Given the description of an element on the screen output the (x, y) to click on. 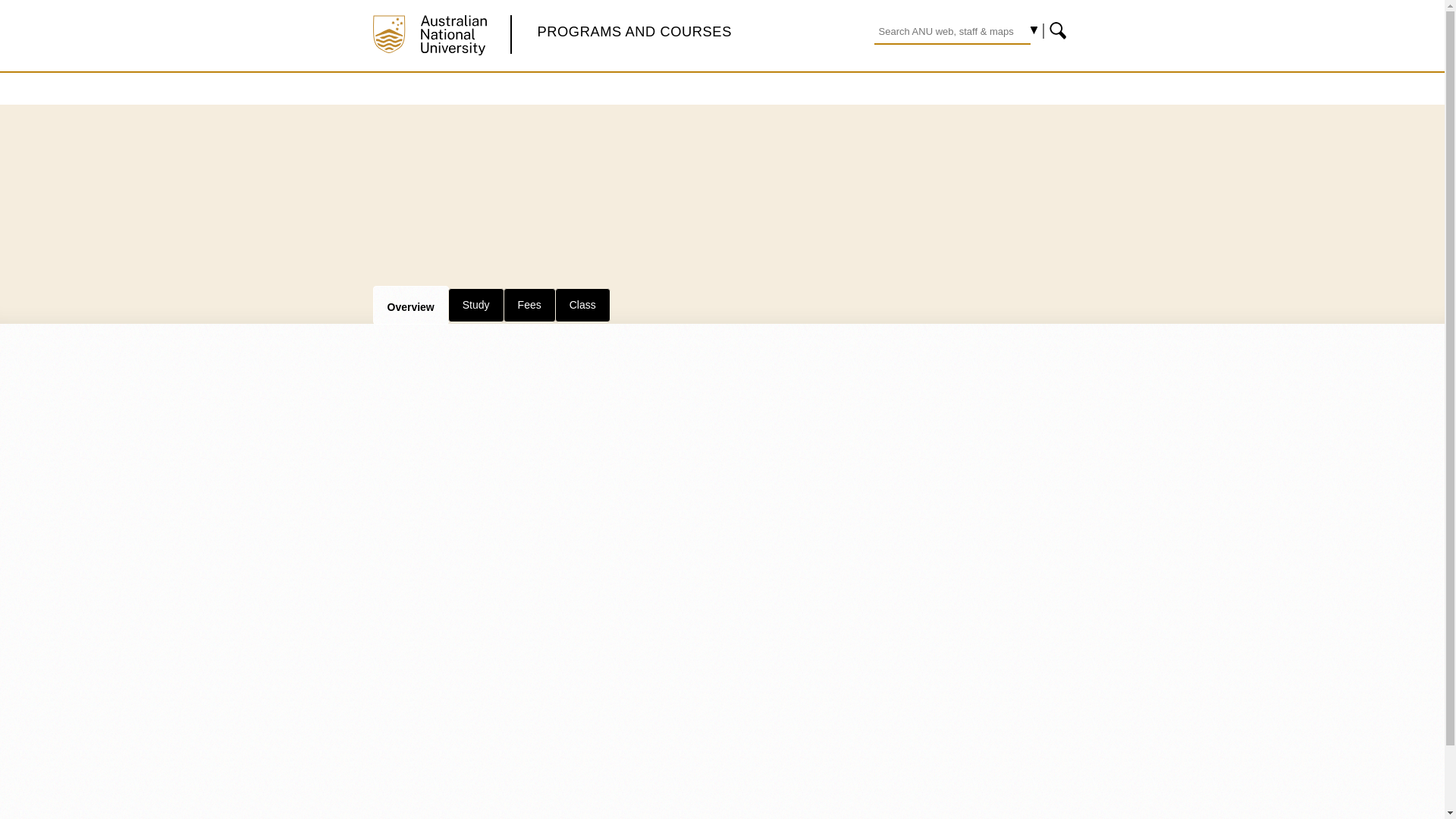
Overview (410, 304)
Go (1059, 30)
Class (582, 304)
Fees (529, 304)
Study (475, 304)
PROGRAMS AND COURSES (633, 31)
